Given the description of an element on the screen output the (x, y) to click on. 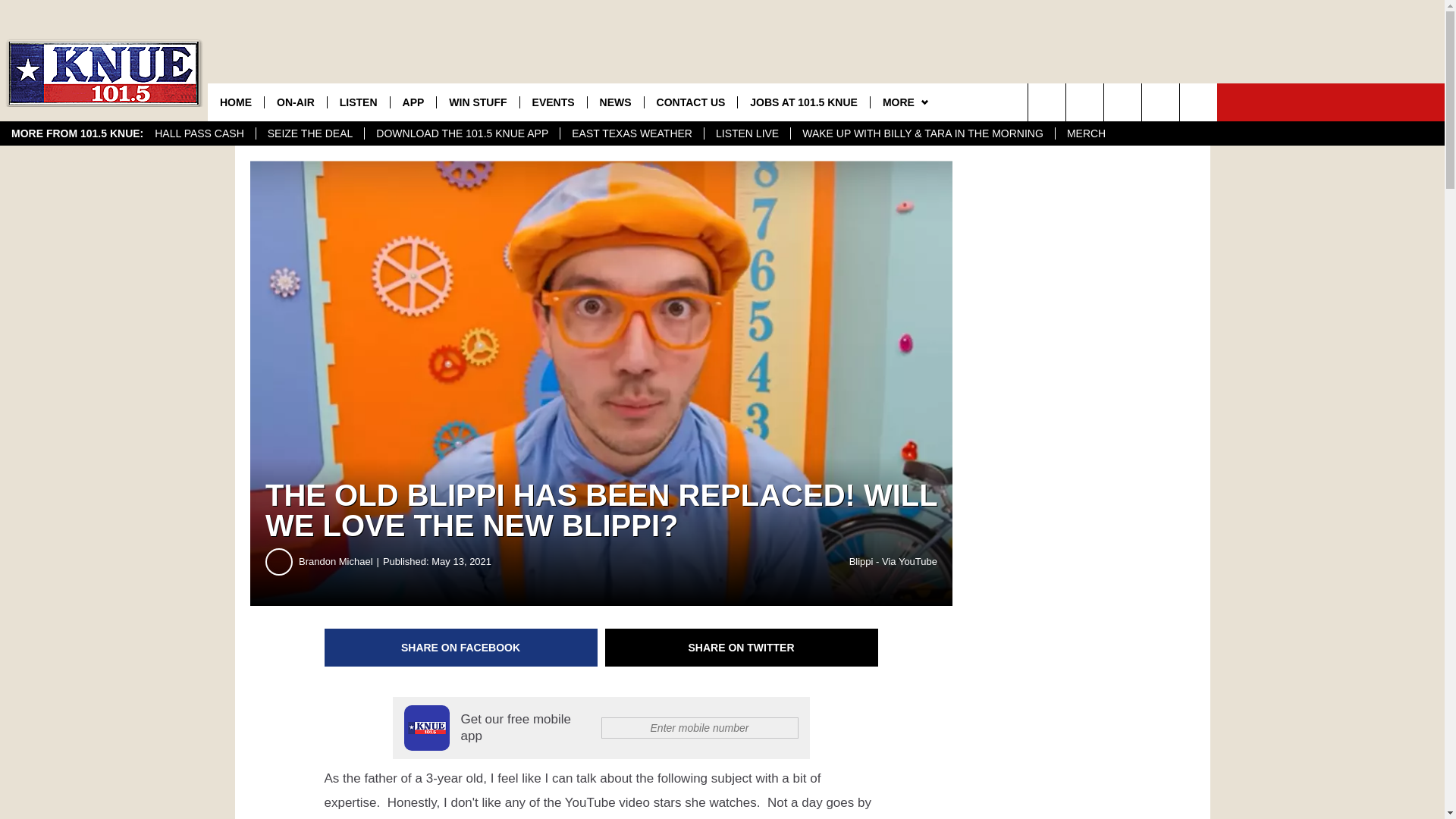
DOWNLOAD THE 101.5 KNUE APP (461, 133)
EAST TEXAS WEATHER (631, 133)
APP (413, 102)
WIN STUFF (476, 102)
MERCH (1085, 133)
ON-AIR (294, 102)
Share on Twitter (741, 647)
LISTEN (358, 102)
HALL PASS CASH (199, 133)
Share on Facebook (460, 647)
